Given the description of an element on the screen output the (x, y) to click on. 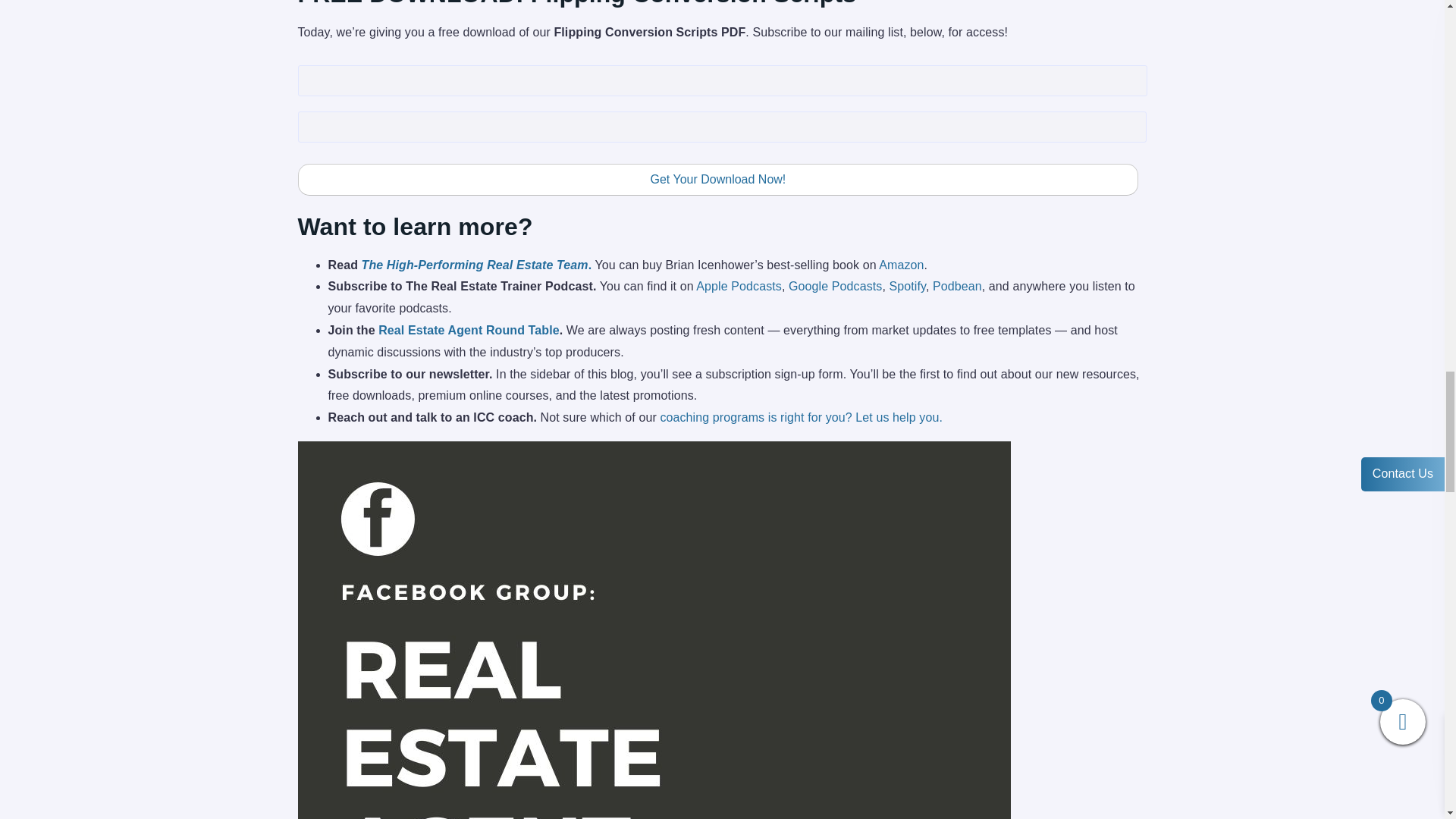
Get Your Download Now! (717, 179)
